Given the description of an element on the screen output the (x, y) to click on. 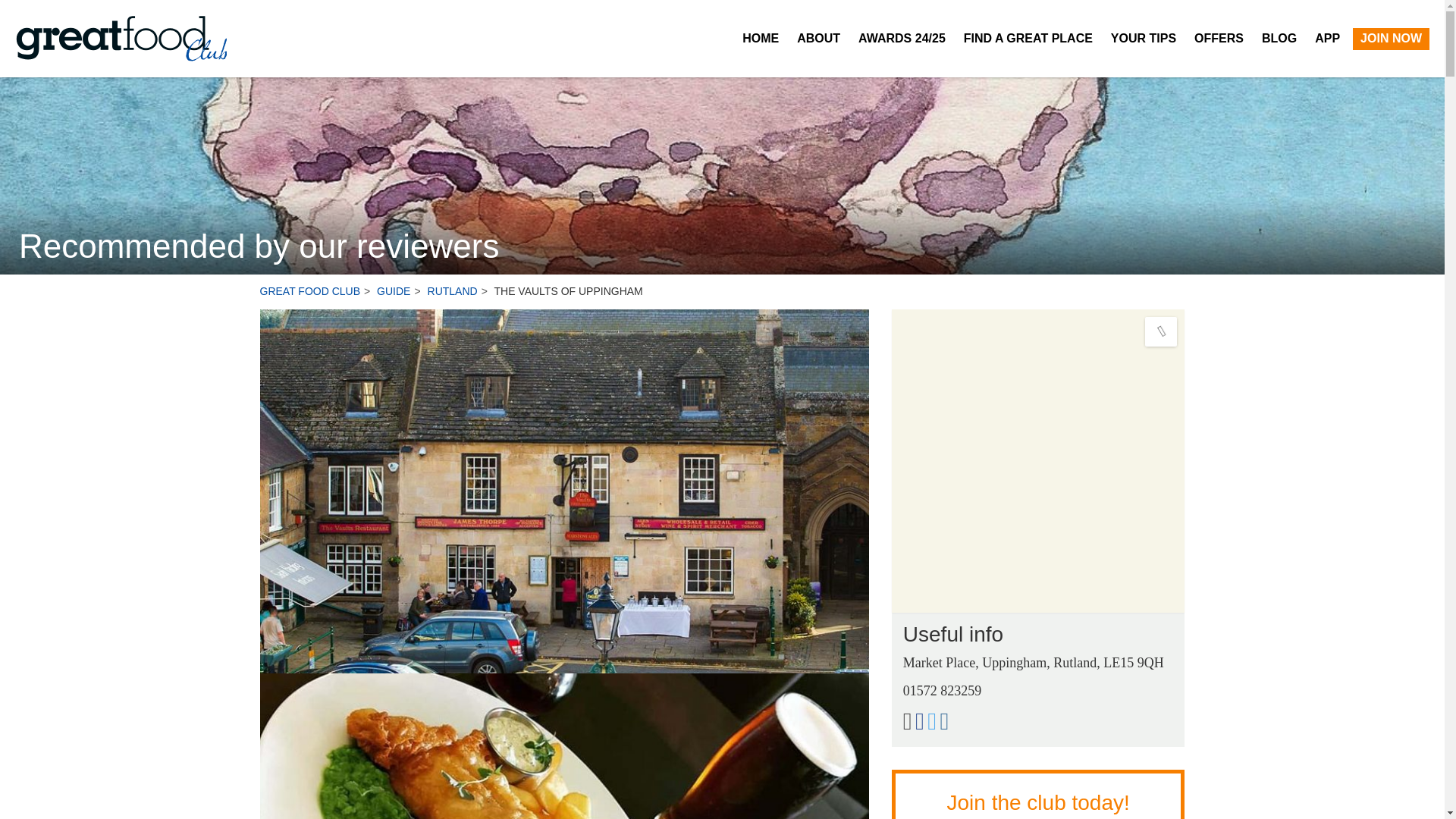
ABOUT (817, 38)
BLOG (1279, 38)
OFFERS (1218, 38)
YOUR TIPS (1143, 38)
JOIN NOW (1390, 38)
HOME (760, 38)
GUIDE (401, 291)
Great Food Club (120, 38)
RUTLAND (460, 291)
FIND A GREAT PLACE (1028, 38)
